Given the description of an element on the screen output the (x, y) to click on. 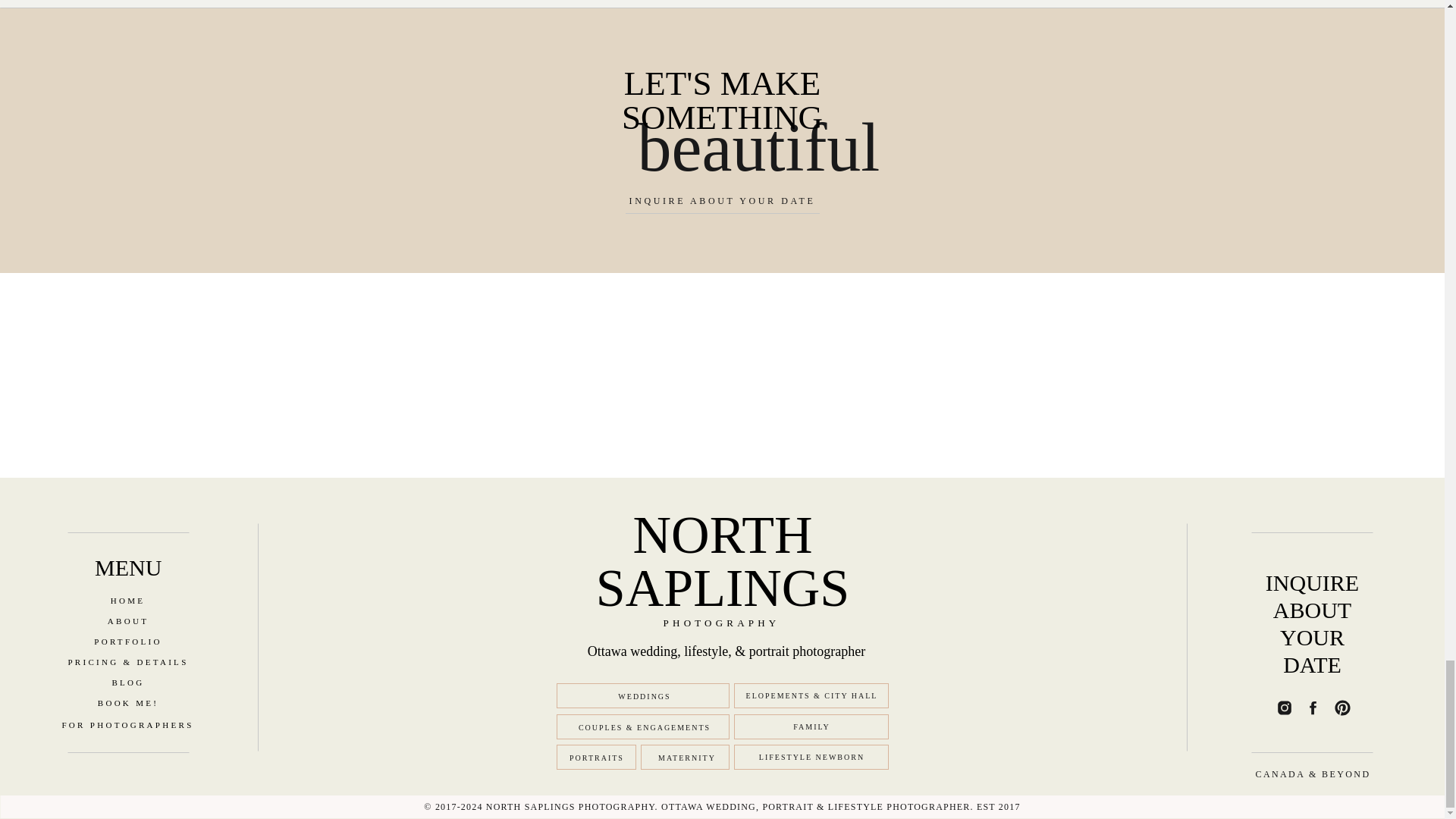
INQUIRE ABOUT YOUR DATE (722, 203)
LET'S MAKE SOMETHING (721, 100)
